Given the description of an element on the screen output the (x, y) to click on. 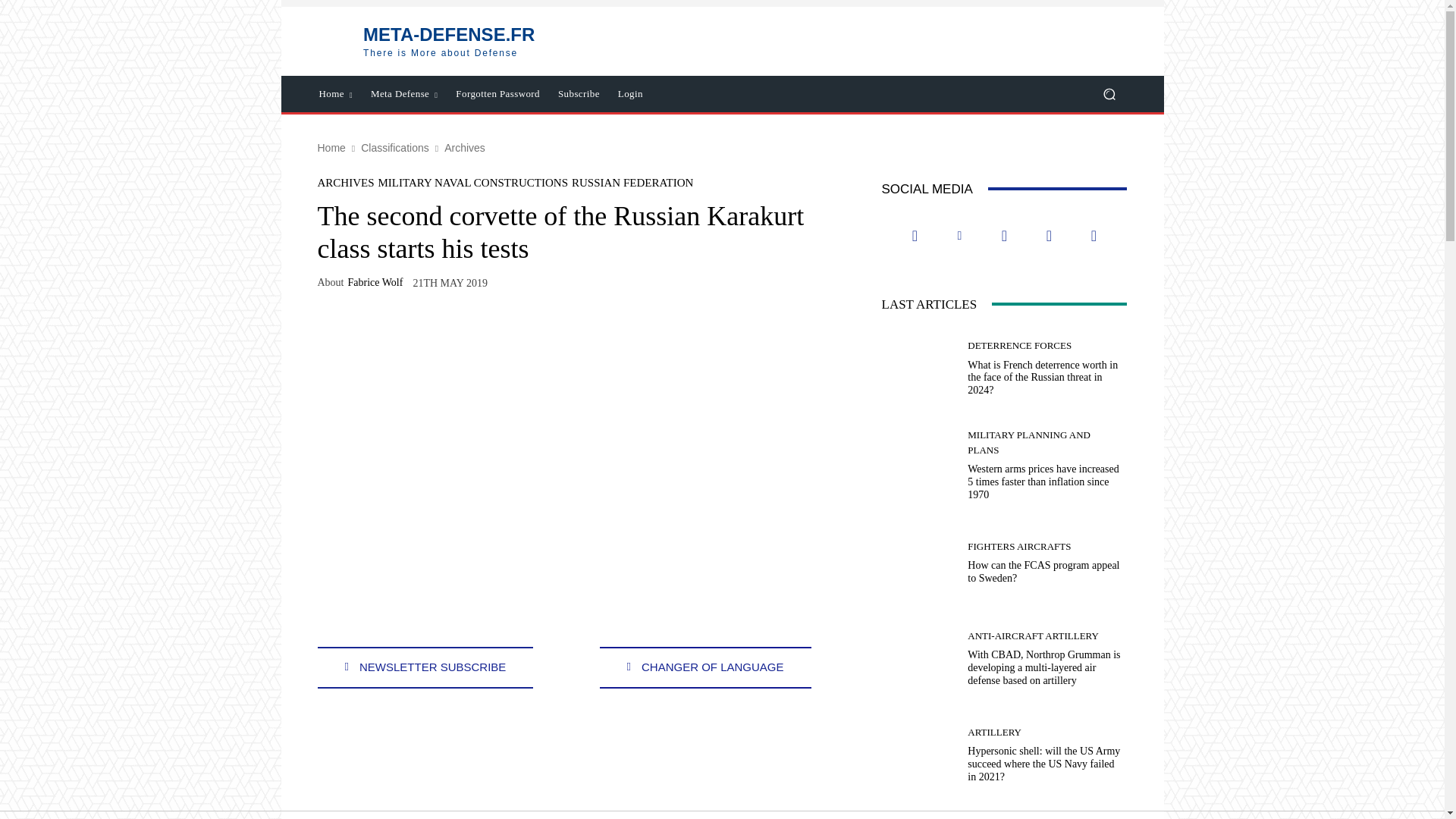
See all posts in Archives (464, 147)
Home (425, 41)
See all posts in Classifications (334, 94)
Meta Defense (394, 147)
